Given the description of an element on the screen output the (x, y) to click on. 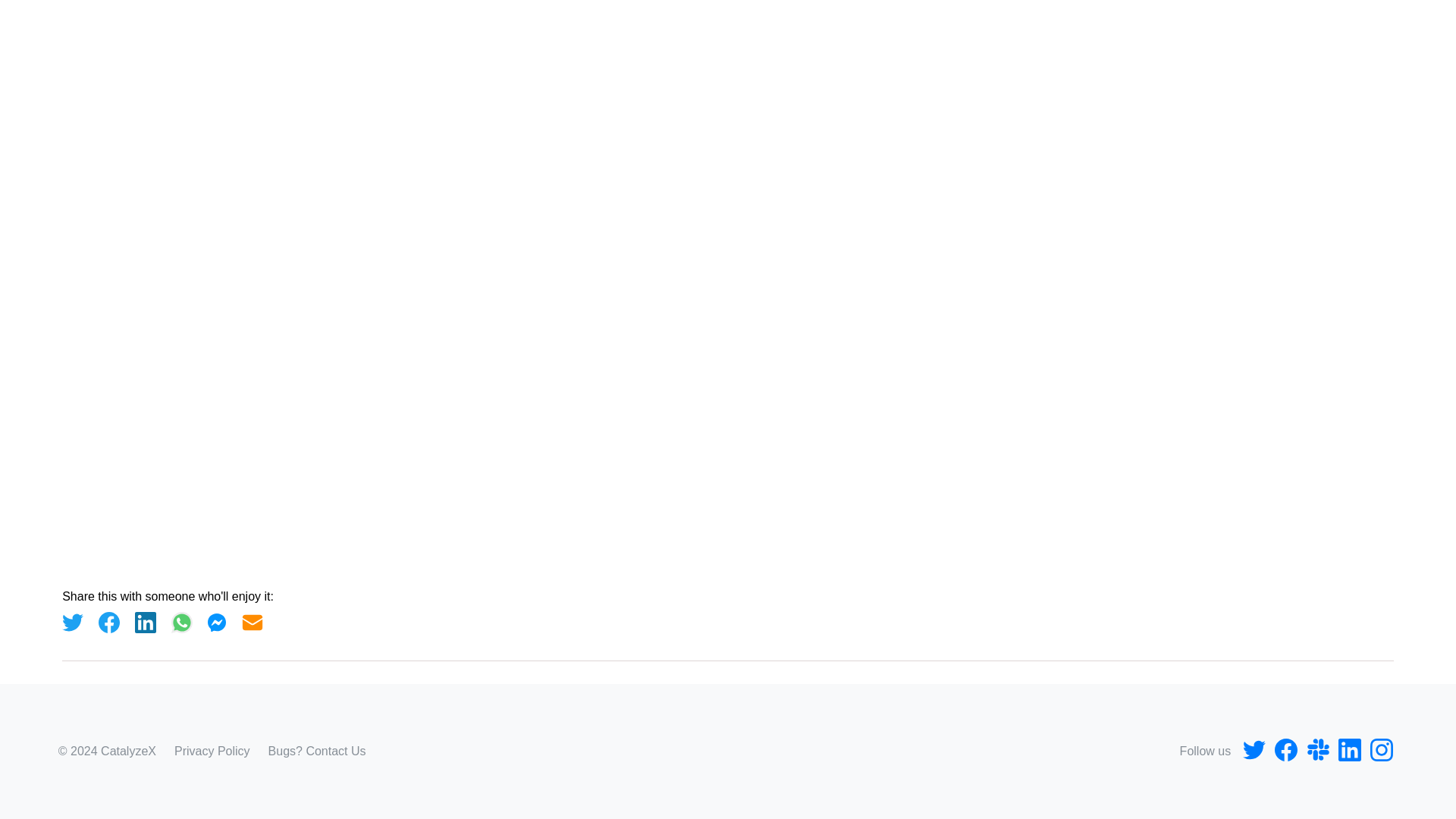
Twitter Icon (1254, 749)
Facebook Icon (1285, 751)
Twitter Icon (1254, 751)
Privacy Policy (212, 750)
Linkedin Icon (1349, 751)
Share via Email (252, 621)
Slack Icon (1317, 750)
Instagram Icon (1381, 751)
Bugs? Contact Us (316, 750)
